Given the description of an element on the screen output the (x, y) to click on. 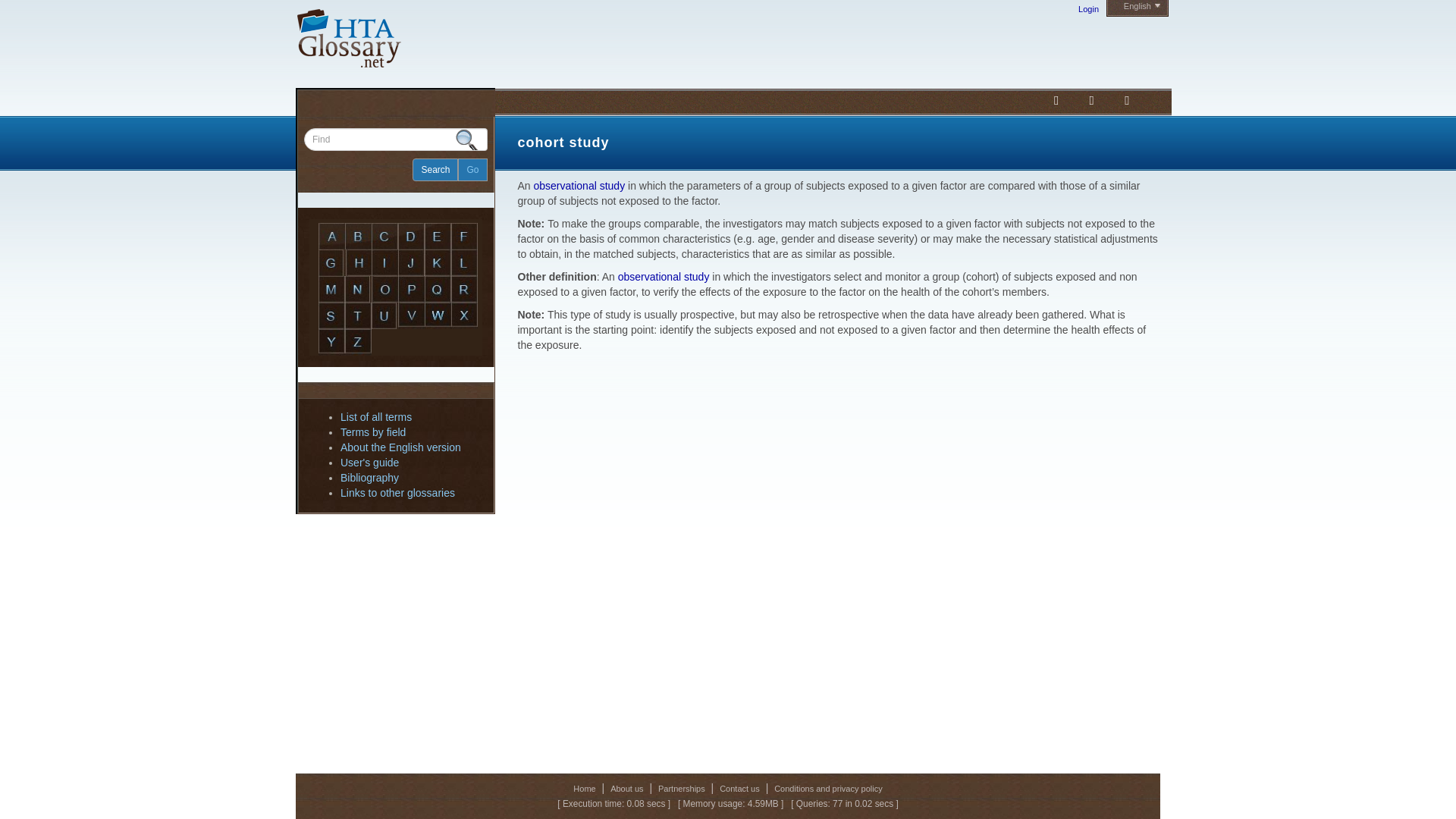
Go (472, 169)
E (438, 235)
HTA Glossary (342, 39)
B (358, 235)
observational study (663, 276)
observational study (580, 185)
cohort study (562, 142)
English (1142, 5)
Login (1088, 8)
refresh (562, 142)
G (331, 262)
F (464, 235)
Search (435, 169)
observational study (580, 185)
Go (472, 169)
